Given the description of an element on the screen output the (x, y) to click on. 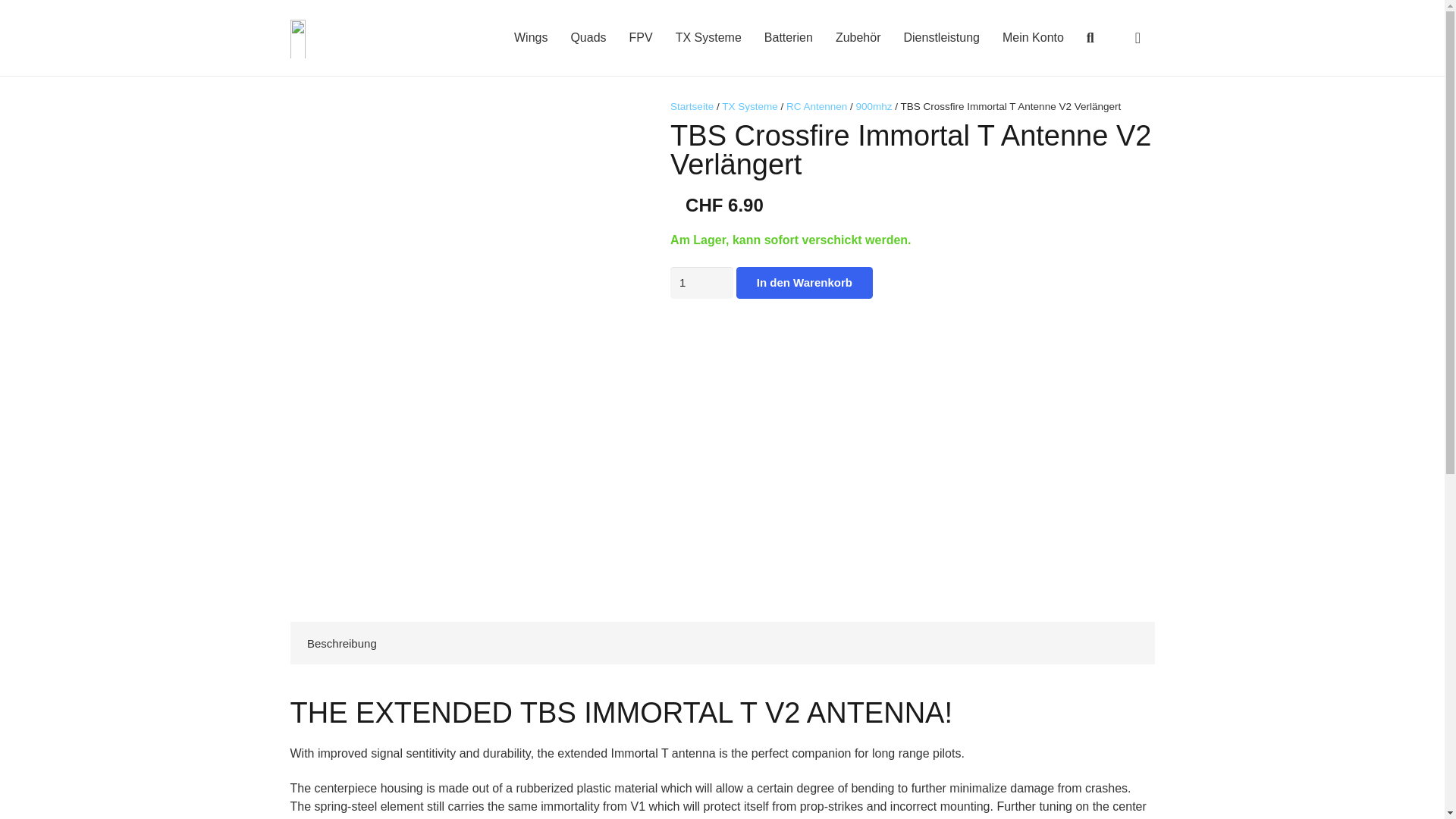
Wings (530, 41)
Menge (701, 282)
1 (701, 282)
FPV (640, 41)
Quads (588, 41)
